Given the description of an element on the screen output the (x, y) to click on. 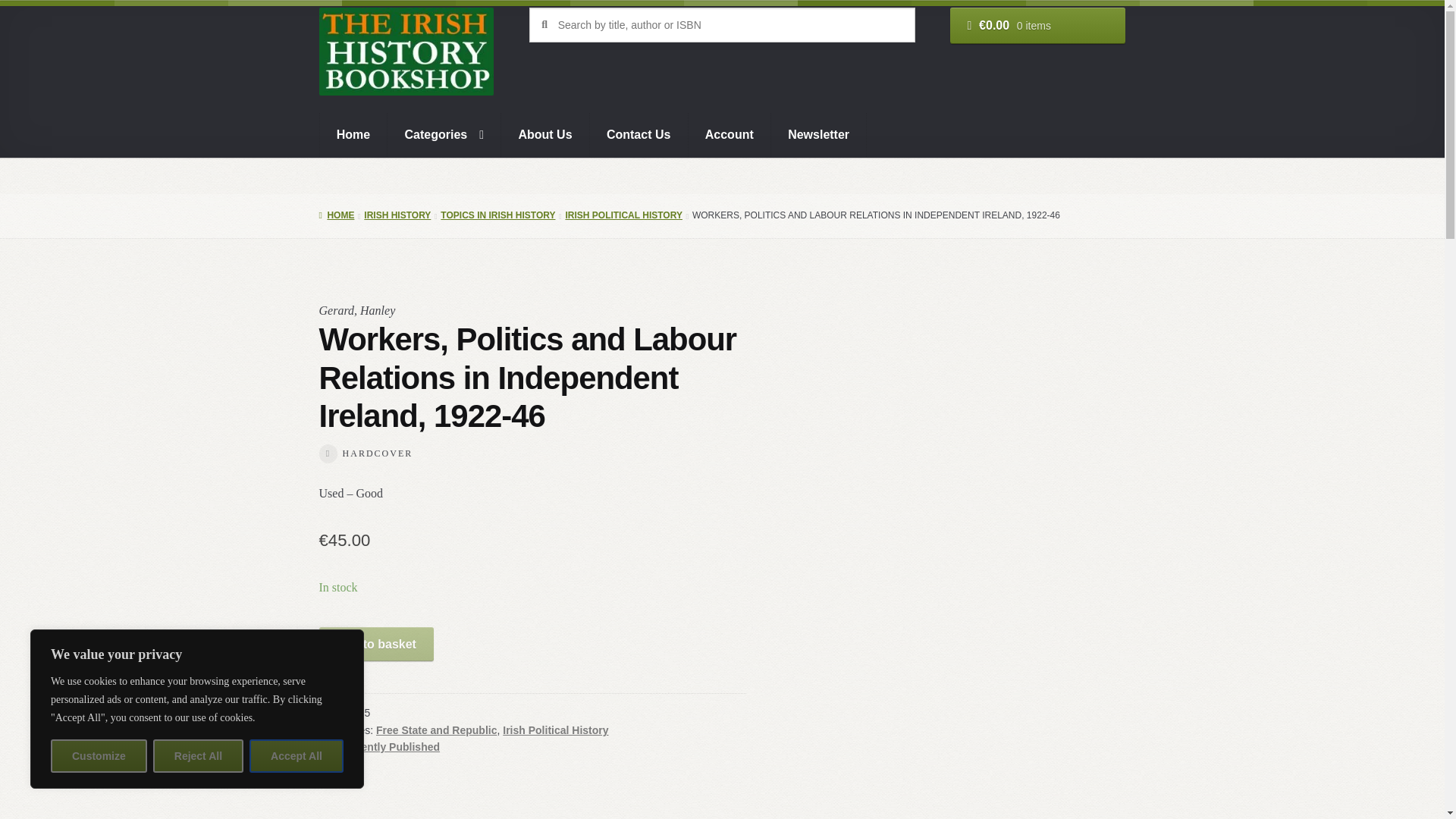
Categories (443, 135)
Home (353, 135)
Customize (98, 756)
Search (536, 10)
View your shopping basket (1037, 25)
Reject All (197, 756)
Accept All (295, 756)
